Given the description of an element on the screen output the (x, y) to click on. 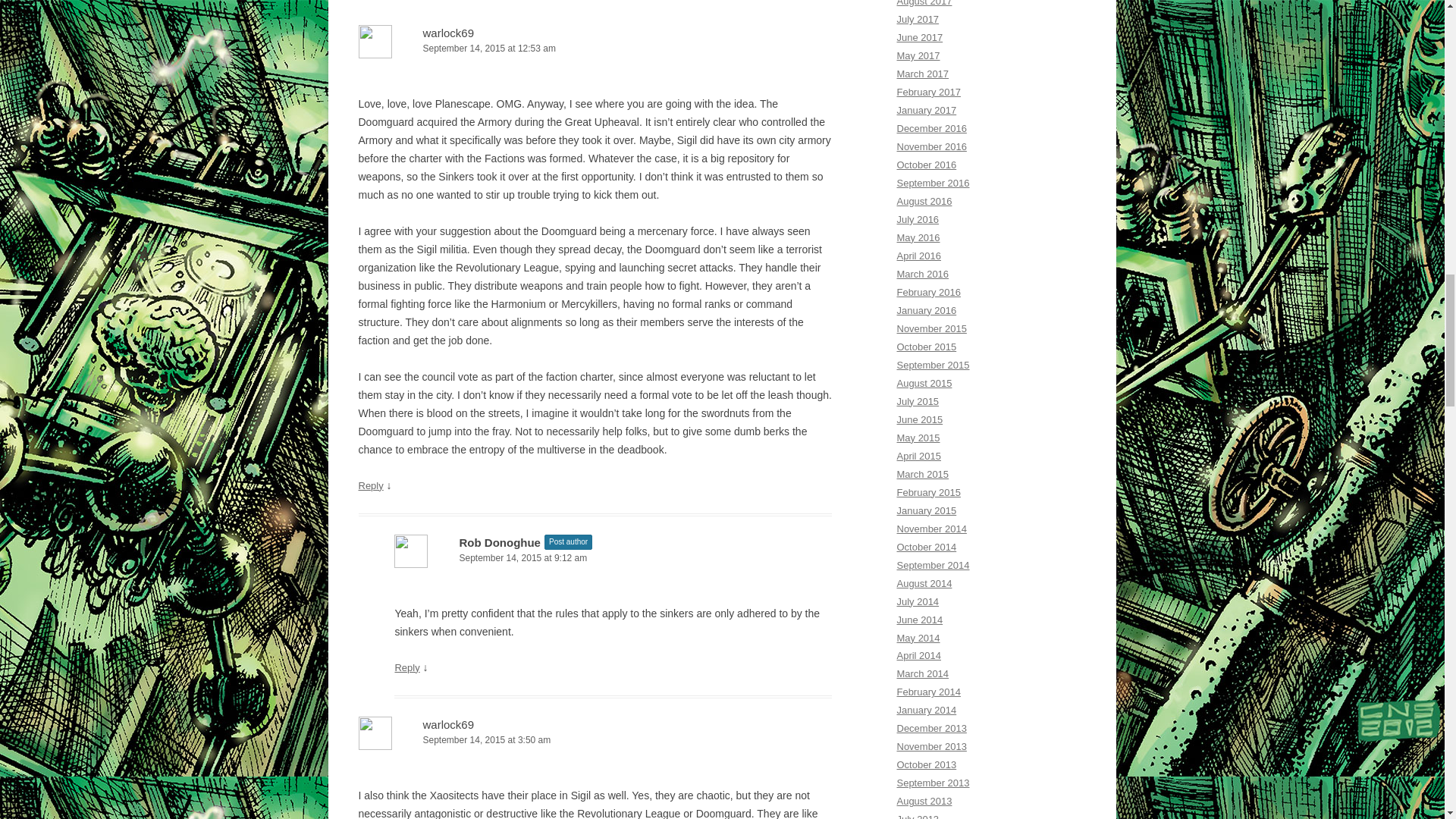
Reply (406, 667)
September 14, 2015 at 12:53 am (594, 48)
September 14, 2015 at 9:12 am (612, 558)
September 14, 2015 at 3:50 am (594, 740)
Reply (370, 485)
